Given the description of an element on the screen output the (x, y) to click on. 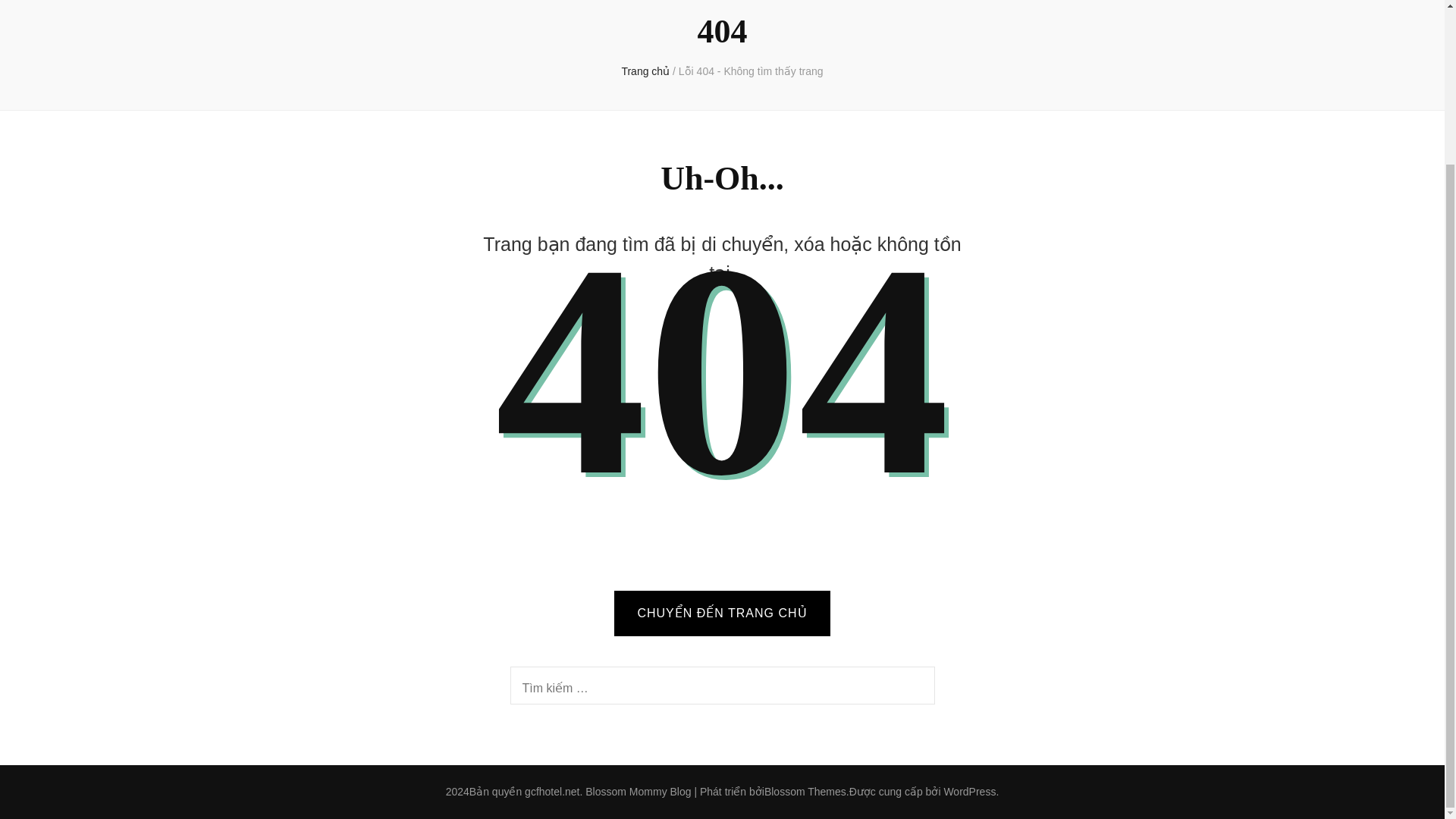
gcfhotel.net (551, 791)
Blossom Themes (804, 791)
WordPress (969, 791)
